Given the description of an element on the screen output the (x, y) to click on. 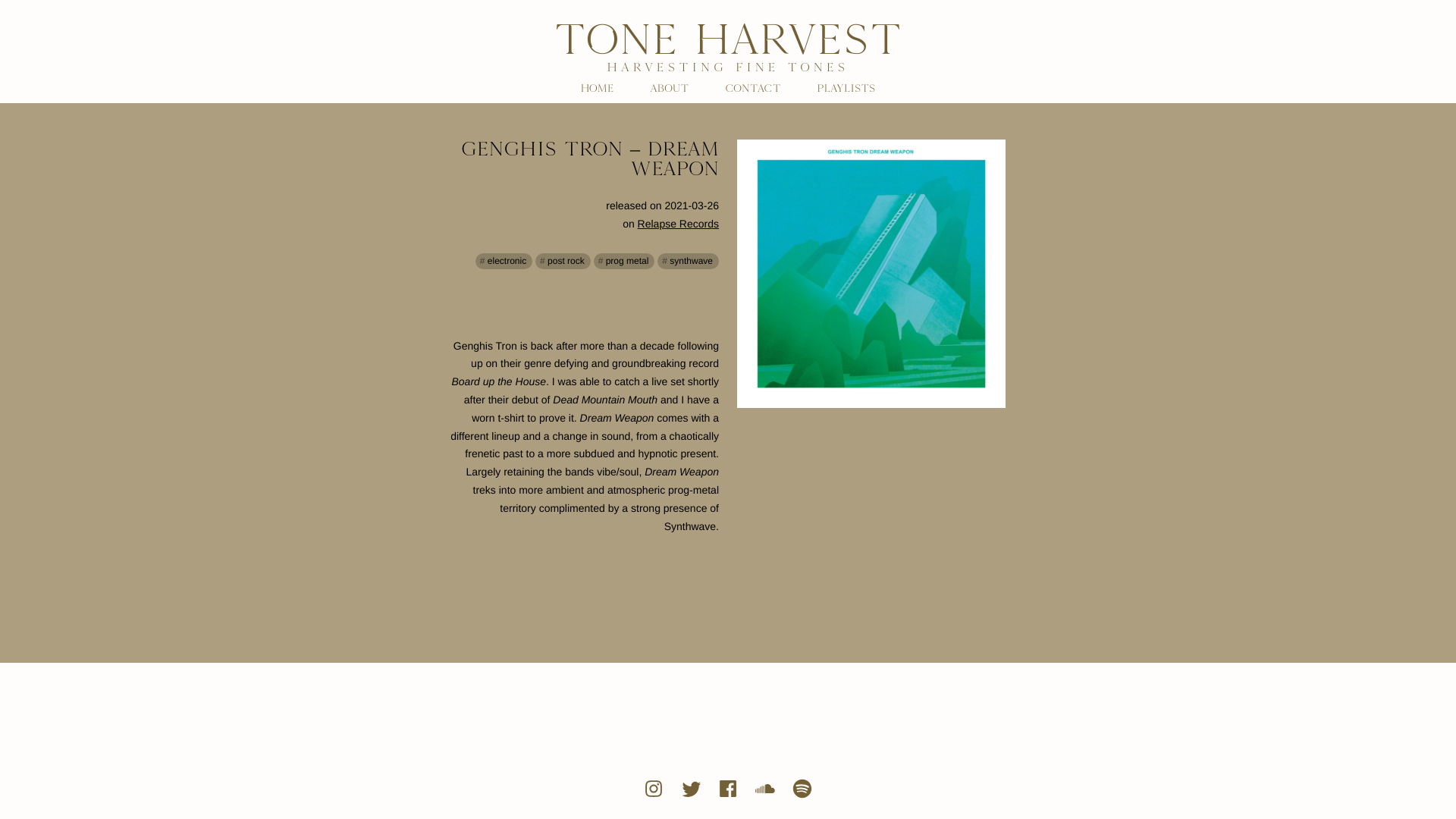
TONE HARVEST (727, 40)
Facebook (727, 788)
post rock (563, 261)
PLAYLISTS (845, 88)
Relapse Records (678, 223)
Instagram (653, 788)
synthwave (688, 261)
SoundCloud (764, 788)
prog metal (624, 261)
ABOUT (668, 88)
CONTACT (751, 88)
Twitter (690, 788)
Spotify (801, 788)
HOME (596, 88)
